Given the description of an element on the screen output the (x, y) to click on. 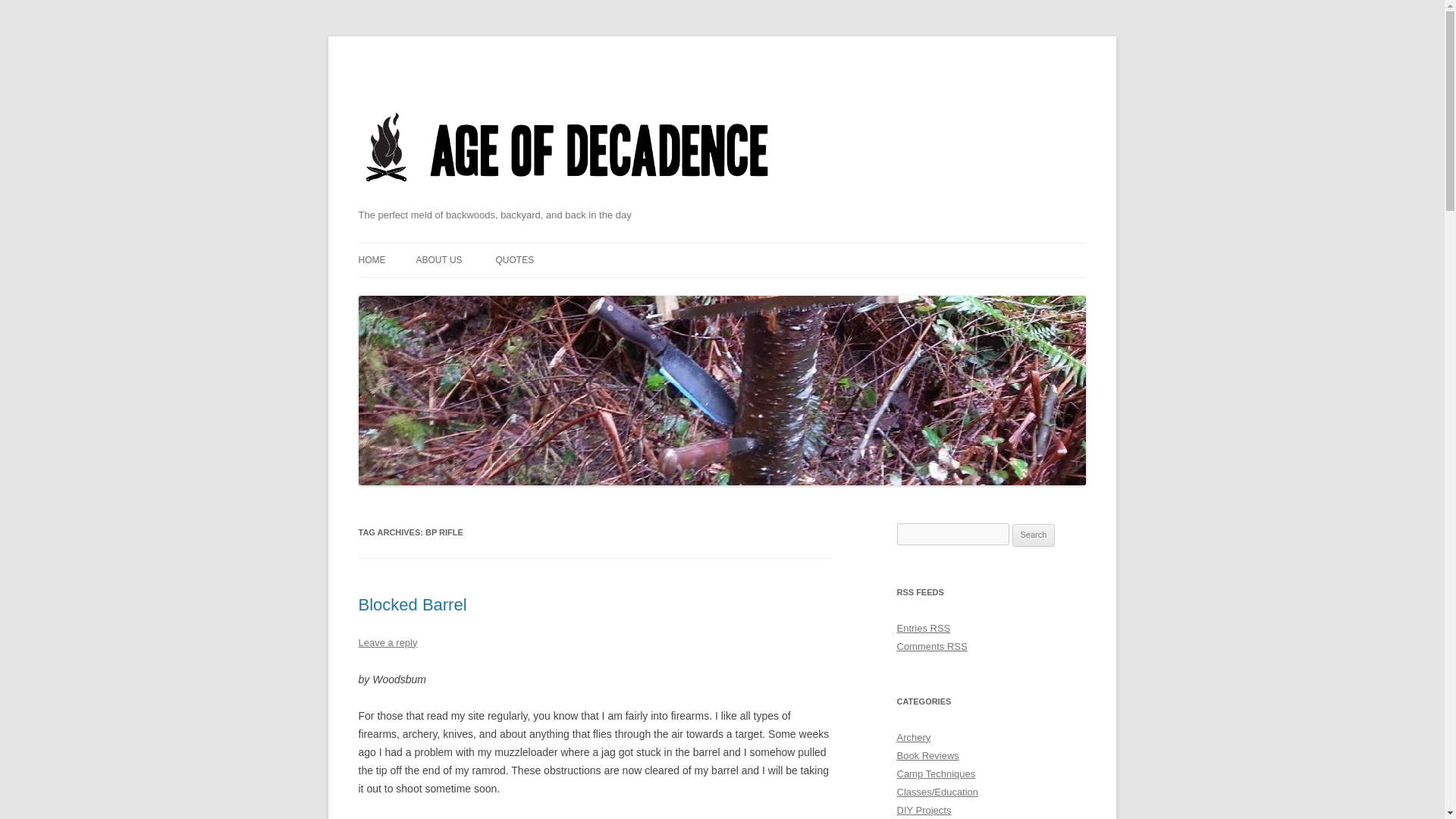
Camp Techniques (935, 773)
HOME (371, 259)
DIY Projects (923, 809)
About Me (437, 259)
Skip to content (757, 247)
Quotes and Rules (514, 259)
Search (1033, 535)
Really Simple Syndication (940, 627)
Leave a reply (387, 642)
Skip to content (757, 247)
Really Simple Syndication (957, 645)
Entries RSS (923, 627)
Blocked Barrel (411, 604)
QUOTES (514, 259)
